Given the description of an element on the screen output the (x, y) to click on. 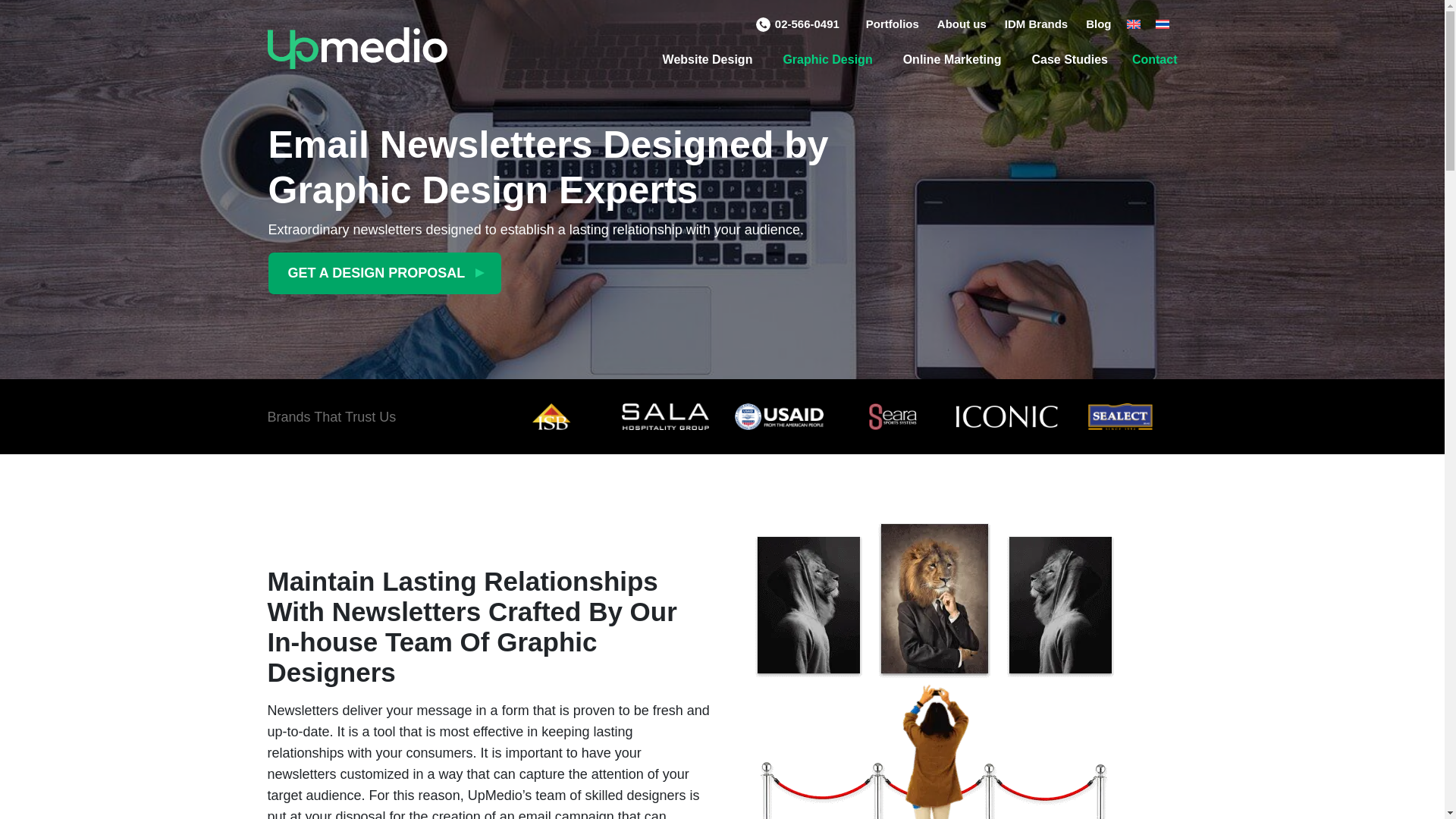
Blog (1107, 23)
IDM Brands (1045, 24)
Newsletter Design 6 (1006, 416)
Newsletter Design 3 (665, 416)
Newsletter Design 2 (551, 416)
About us (970, 23)
Newsletter Design 7 (1119, 416)
Portfolios (901, 23)
Newsletter Design 5 (892, 416)
Newsletter Design 4 (778, 416)
Newsletter Design 8 (934, 670)
02-566-0491 (810, 24)
